Given the description of an element on the screen output the (x, y) to click on. 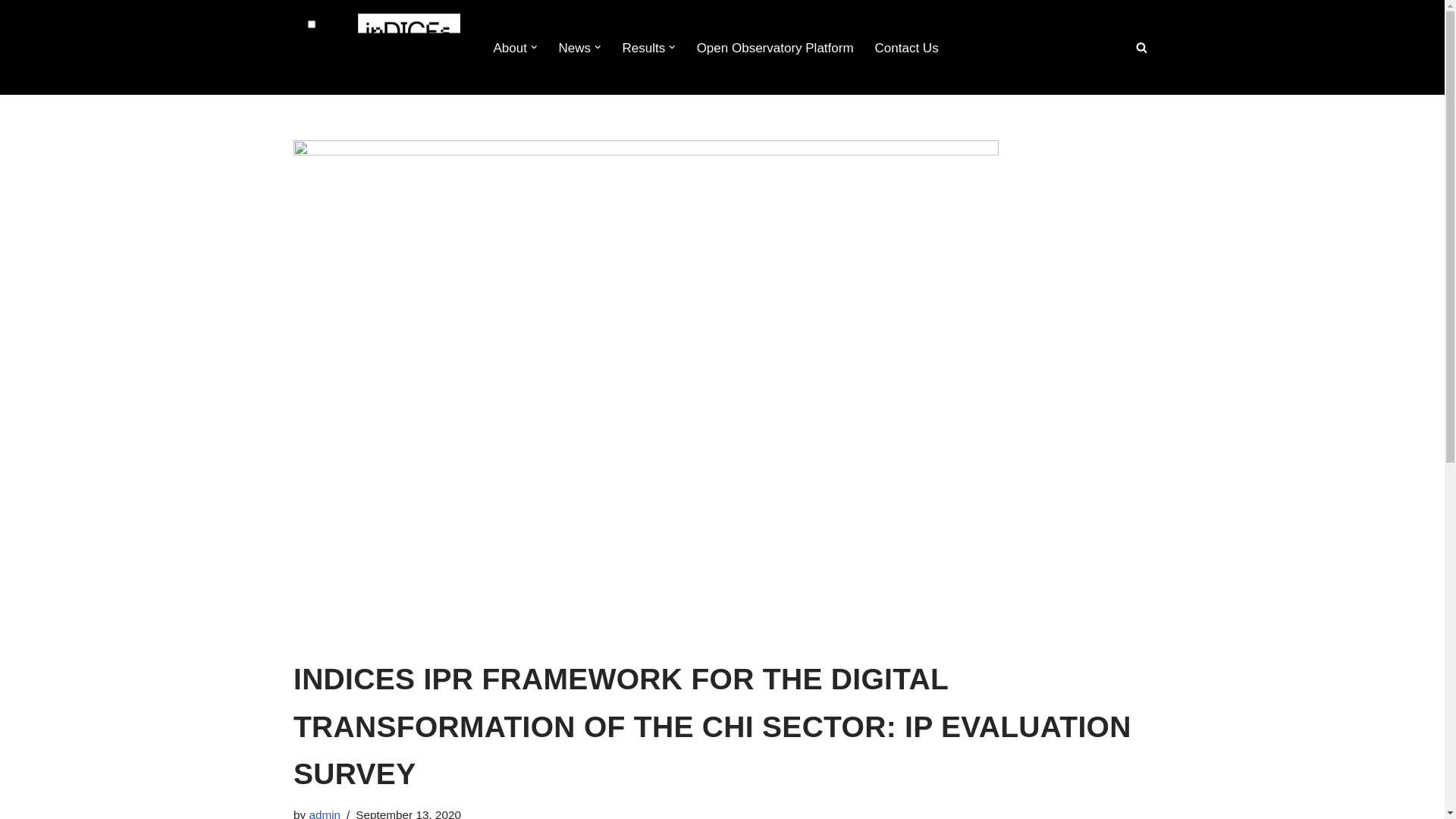
Results (643, 47)
News (574, 47)
Posts by admin (324, 813)
About (509, 47)
Open Observatory Platform (775, 47)
Contact Us (907, 47)
Skip to content (11, 31)
